Given the description of an element on the screen output the (x, y) to click on. 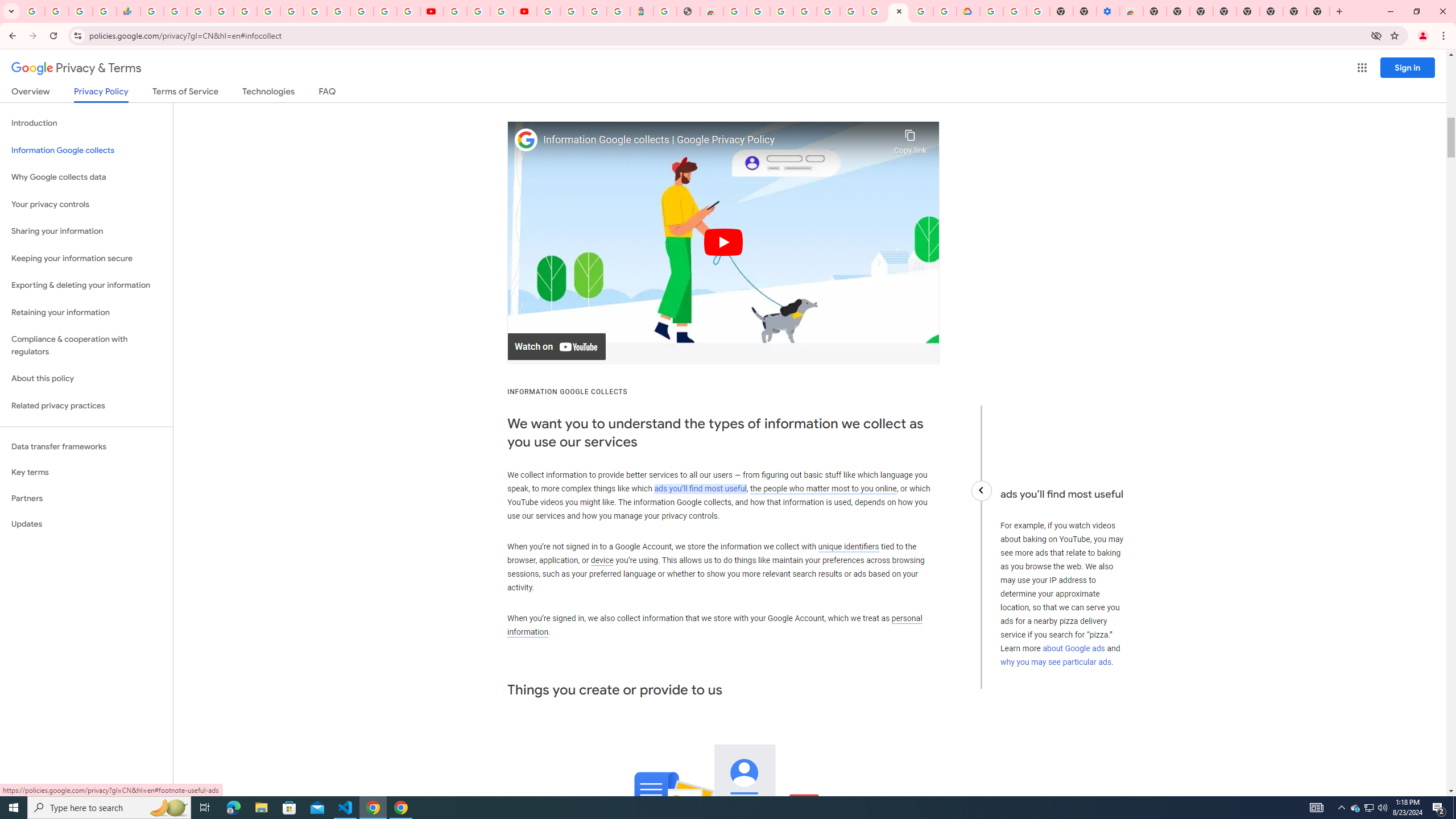
Why Google collects data (86, 176)
Settings - Accessibility (1108, 11)
Compliance & cooperation with regulators (86, 345)
Google Account Help (1015, 11)
YouTube (314, 11)
